Given the description of an element on the screen output the (x, y) to click on. 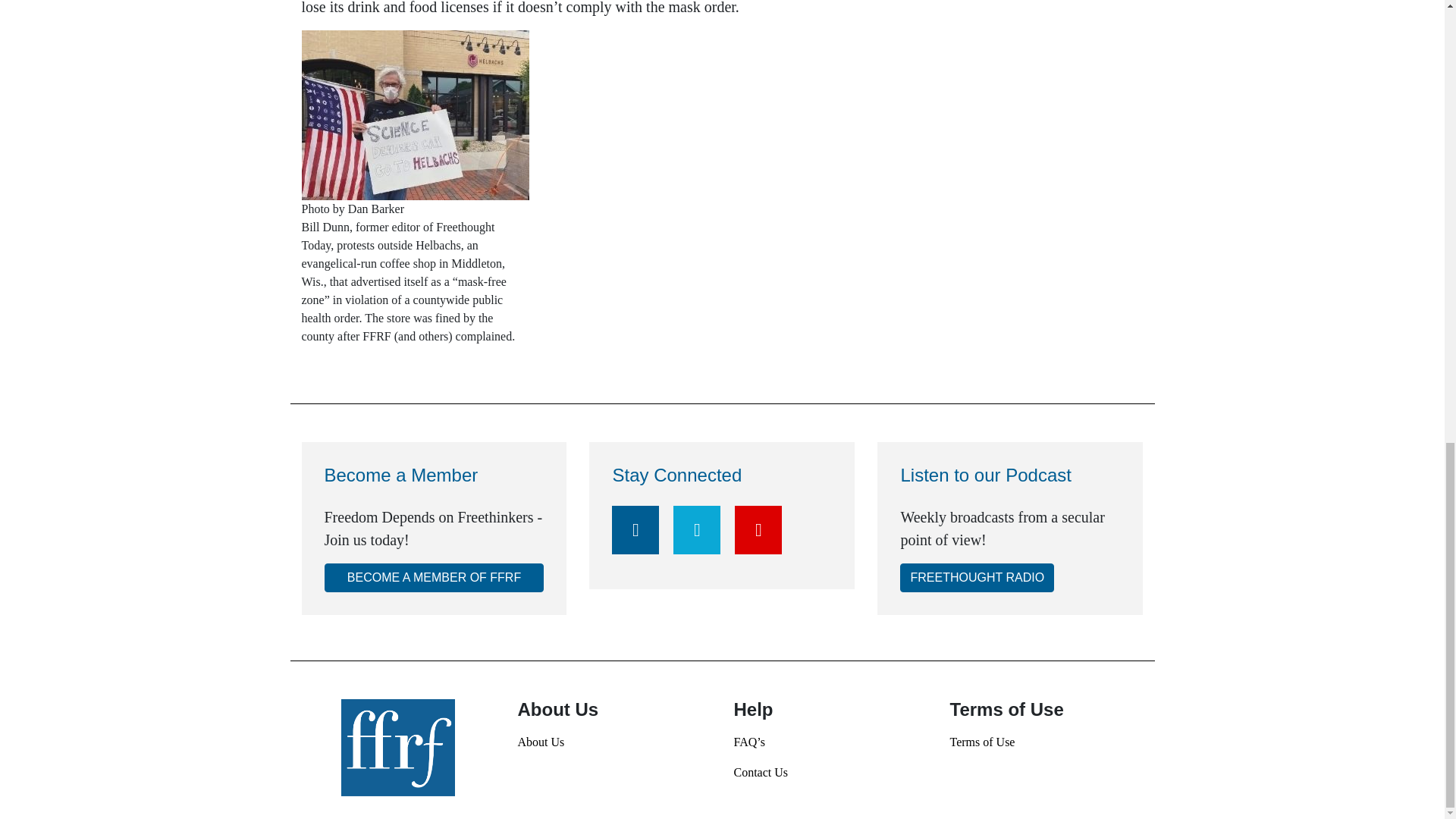
About Us (613, 742)
FAQ's (830, 742)
Contact Us (830, 772)
Terms of Use (1045, 742)
